Given the description of an element on the screen output the (x, y) to click on. 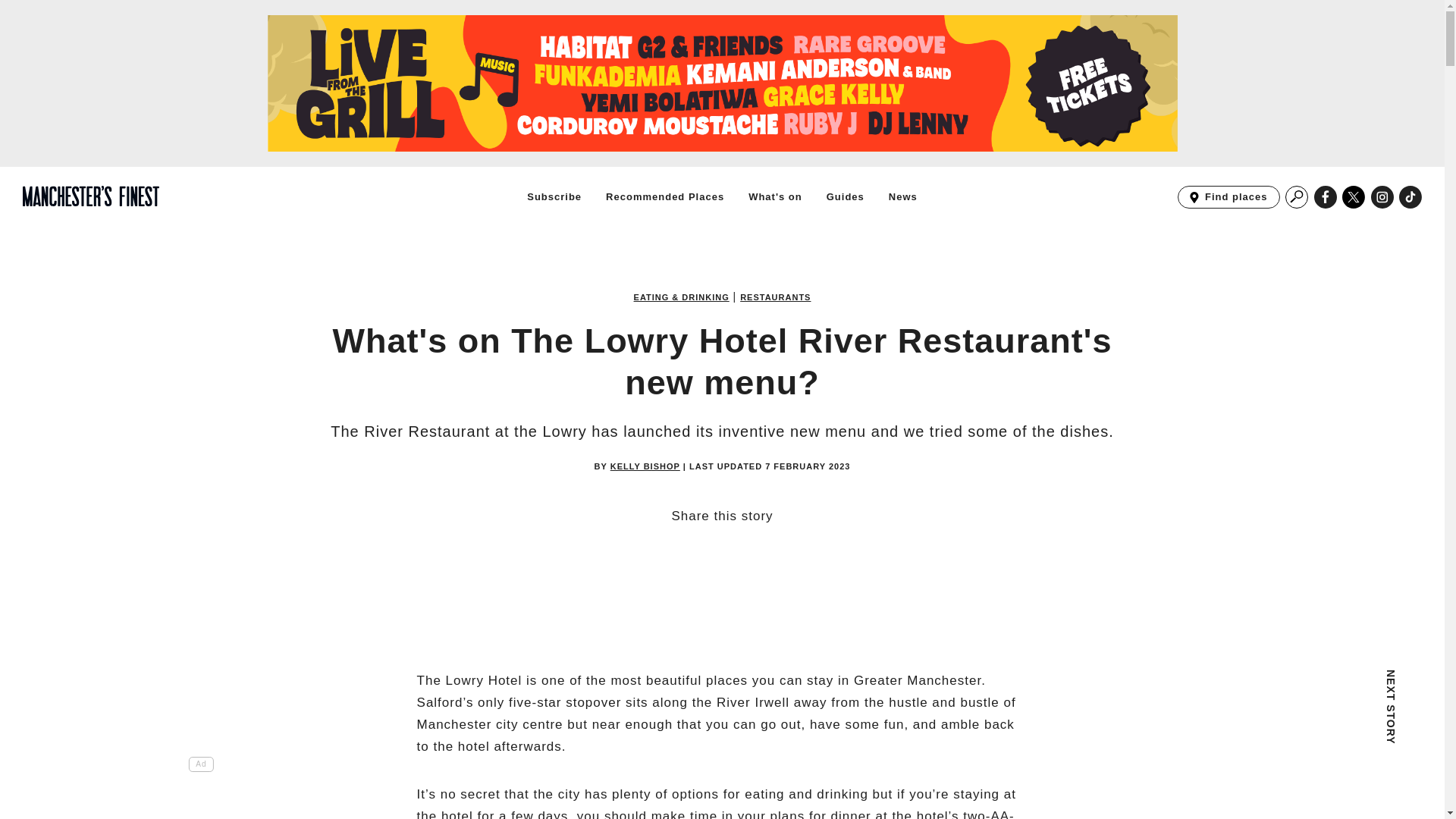
RESTAURANTS (774, 297)
Recommended Places (664, 196)
Go to Manchester's Finest X profile (1353, 196)
What's on (775, 196)
Go to Manchester's Finest Instagram profile (1382, 196)
Search Manchester's Finest (1296, 196)
Guides (845, 196)
KELLY BISHOP (644, 466)
NEXT STORY (1297, 724)
Go to Manchester's Finest TikTok profile (1410, 196)
